Given the description of an element on the screen output the (x, y) to click on. 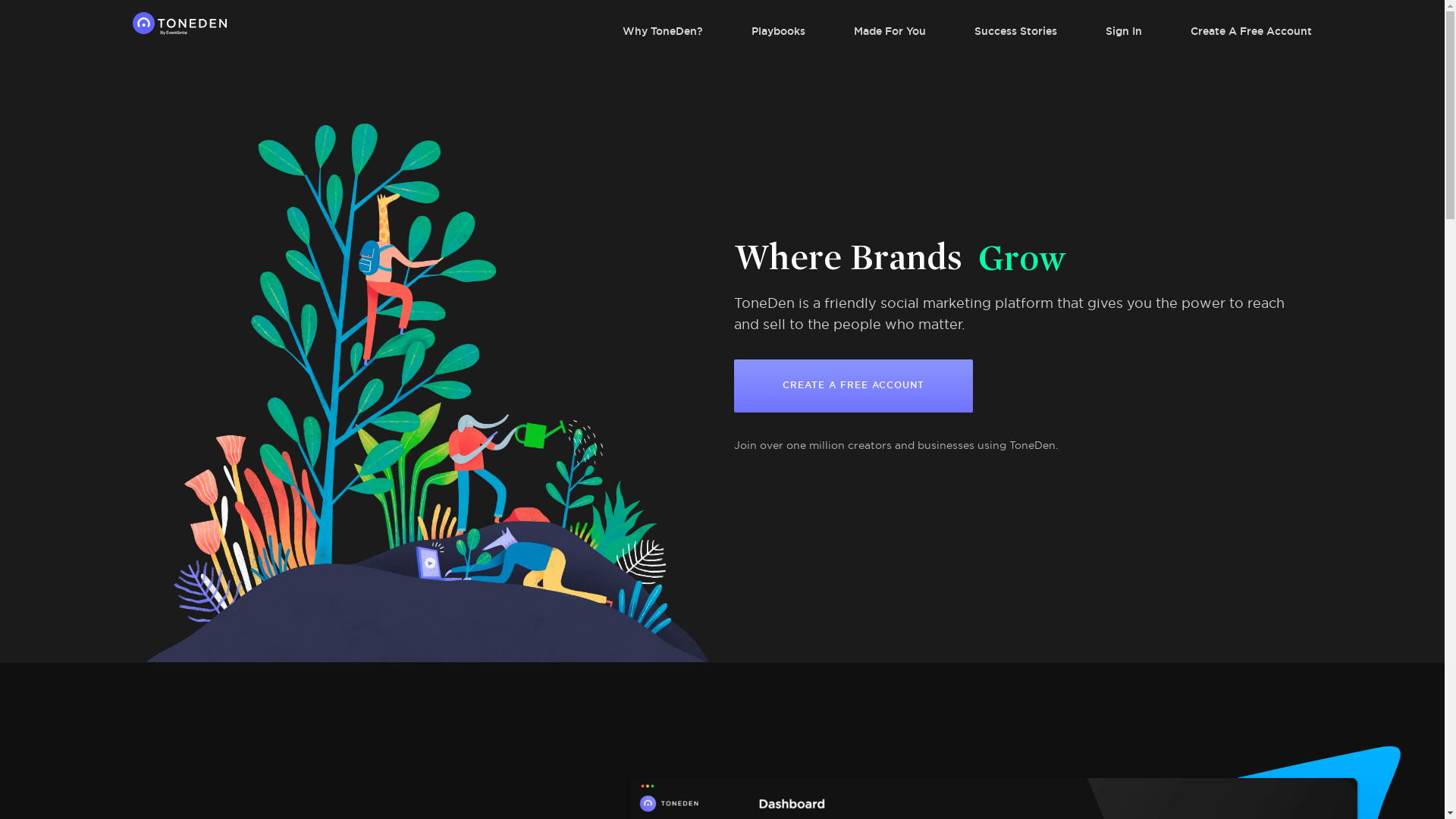
Playbooks Element type: text (753, 31)
Success Stories Element type: text (991, 31)
CREATE A FREE ACCOUNT Element type: text (853, 385)
Create A Free Account Element type: text (1226, 31)
Why ToneDen? Element type: text (638, 31)
Sign In Element type: text (1099, 31)
Made For You Element type: text (865, 31)
